Given the description of an element on the screen output the (x, y) to click on. 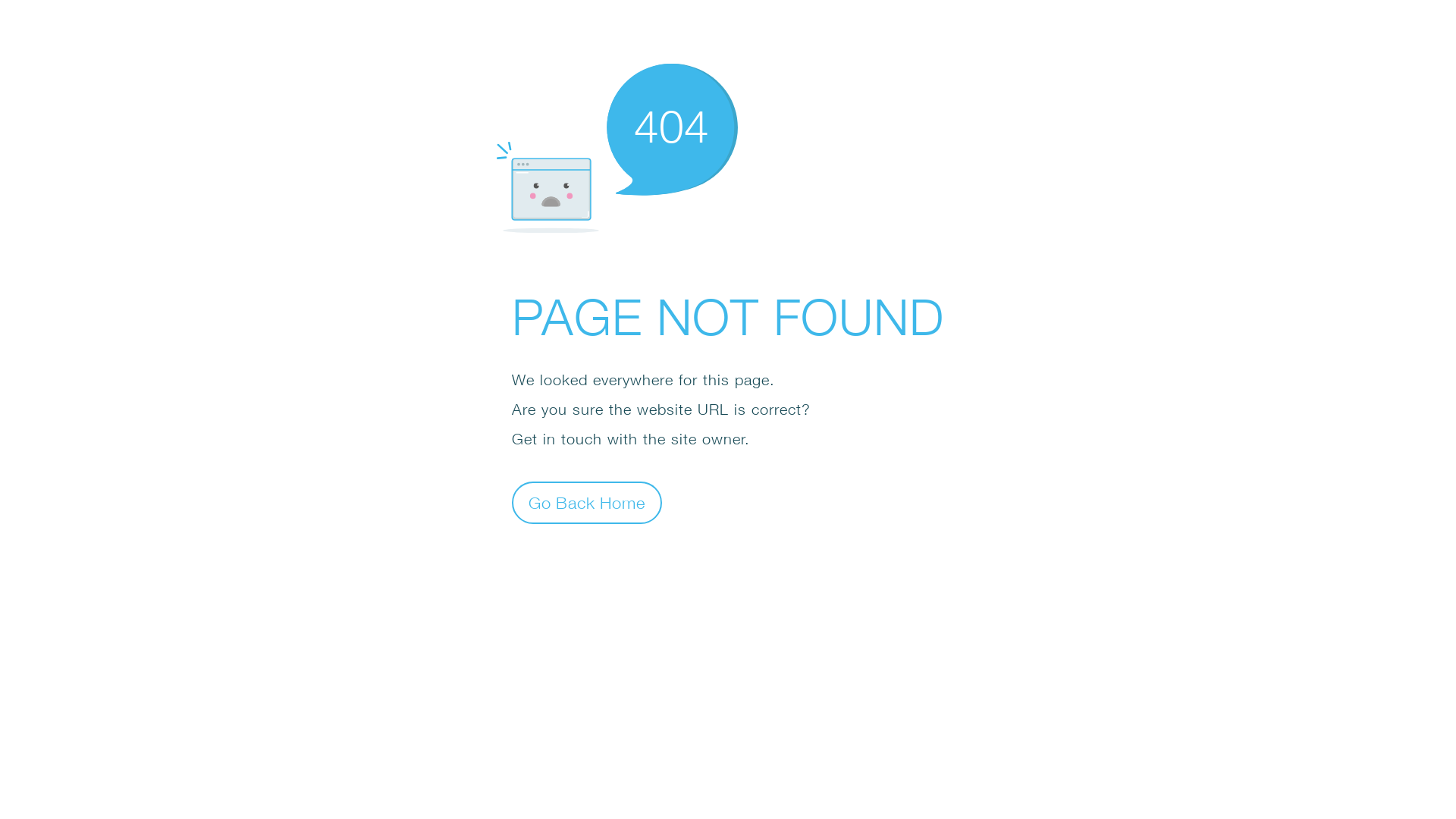
Go Back Home Element type: text (586, 502)
